Given the description of an element on the screen output the (x, y) to click on. 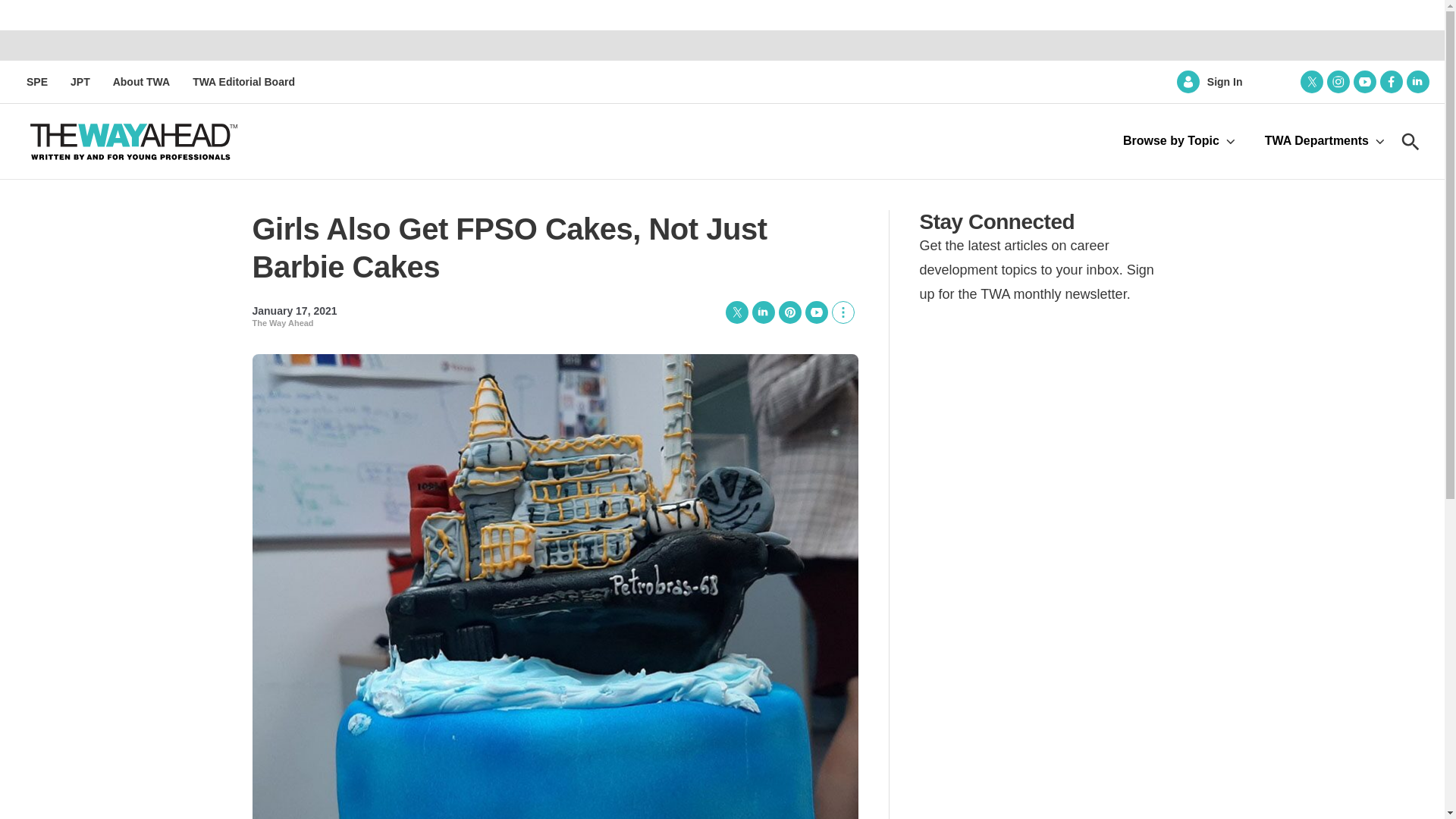
SPE (37, 81)
JPT (79, 81)
About TWA (141, 81)
twitter (1311, 81)
facebook (1391, 81)
youtube (1364, 81)
instagram (1337, 81)
TWA Editorial Board (243, 81)
linkedin (1417, 81)
